Given the description of an element on the screen output the (x, y) to click on. 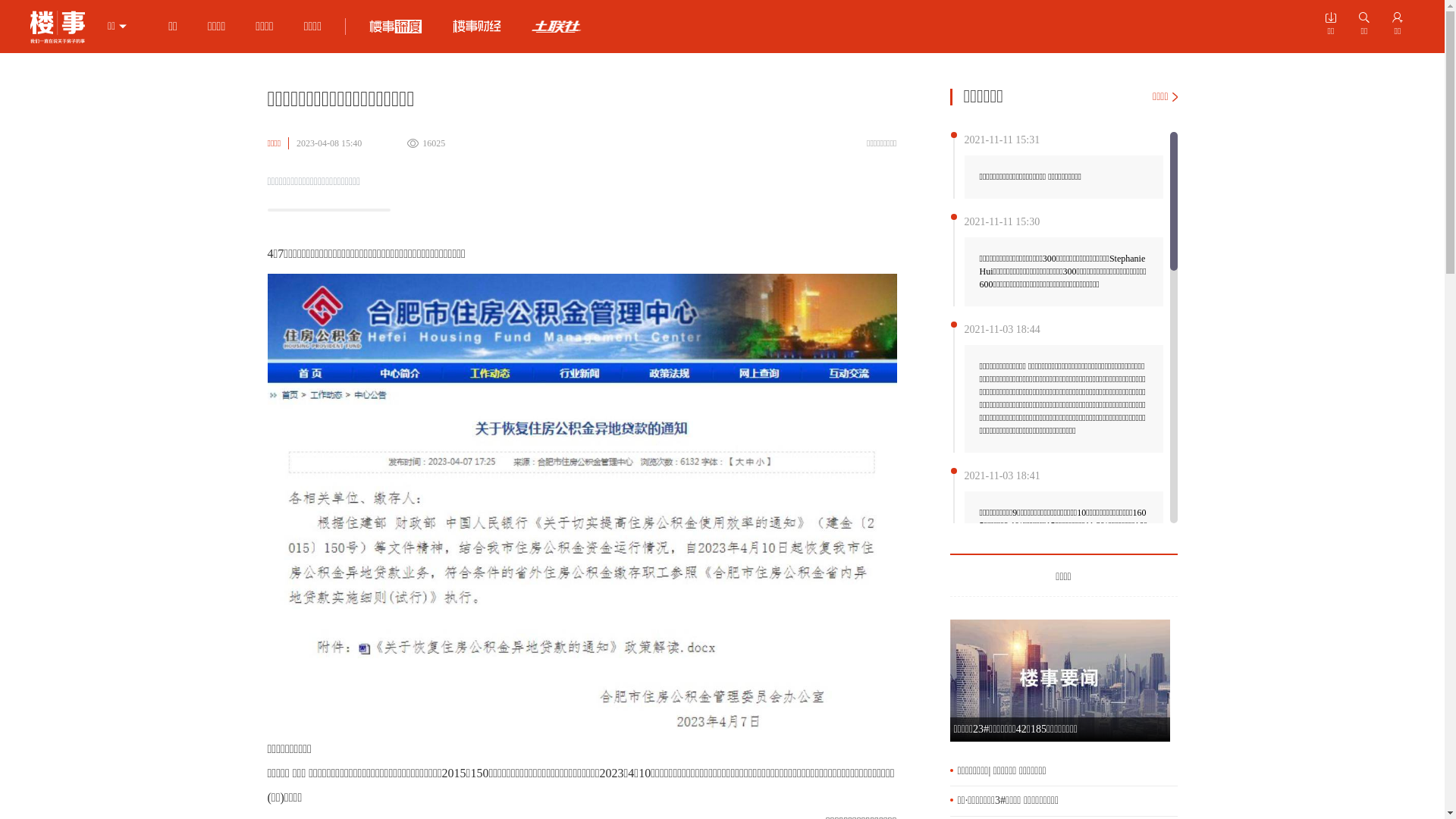
360loushi_2023_04_08_16809394736_94241.png Element type: hover (581, 501)
